Given the description of an element on the screen output the (x, y) to click on. 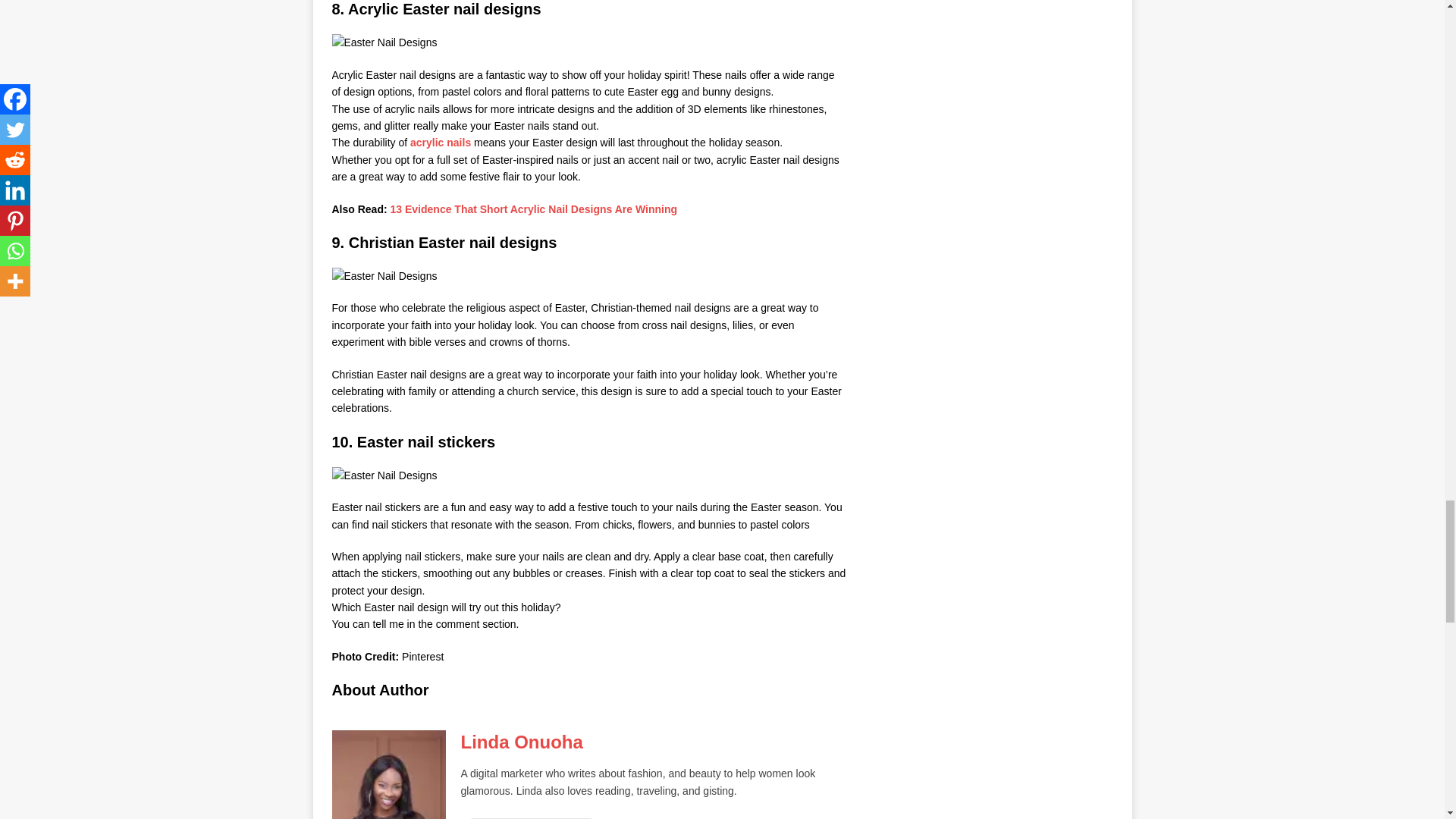
Linda Onuoha (522, 742)
13 Evidence That Short Acrylic Nail Designs Are Winning (534, 209)
acrylic nails (440, 142)
